Given the description of an element on the screen output the (x, y) to click on. 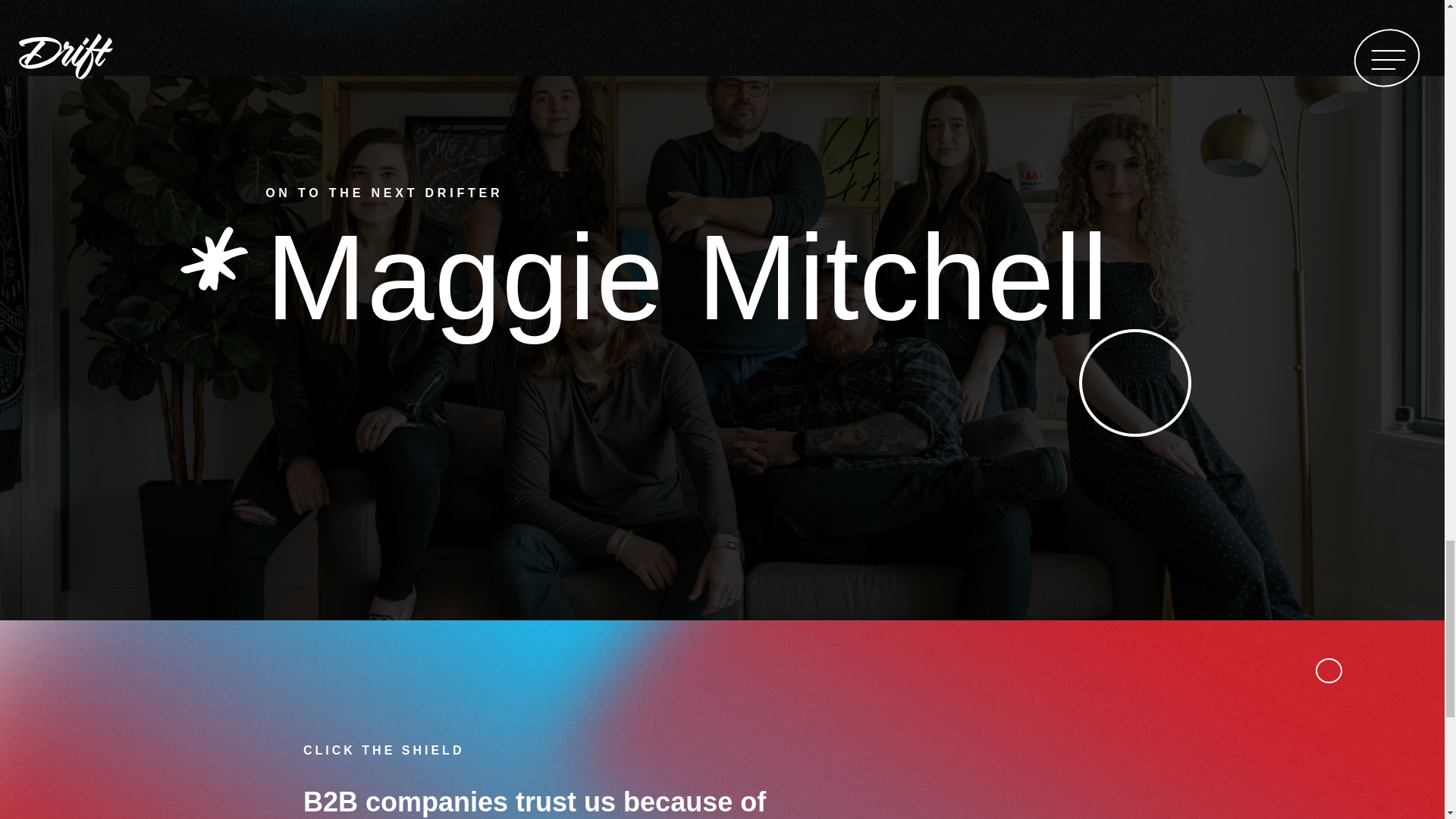
Maggie Mitchell (686, 276)
